Given the description of an element on the screen output the (x, y) to click on. 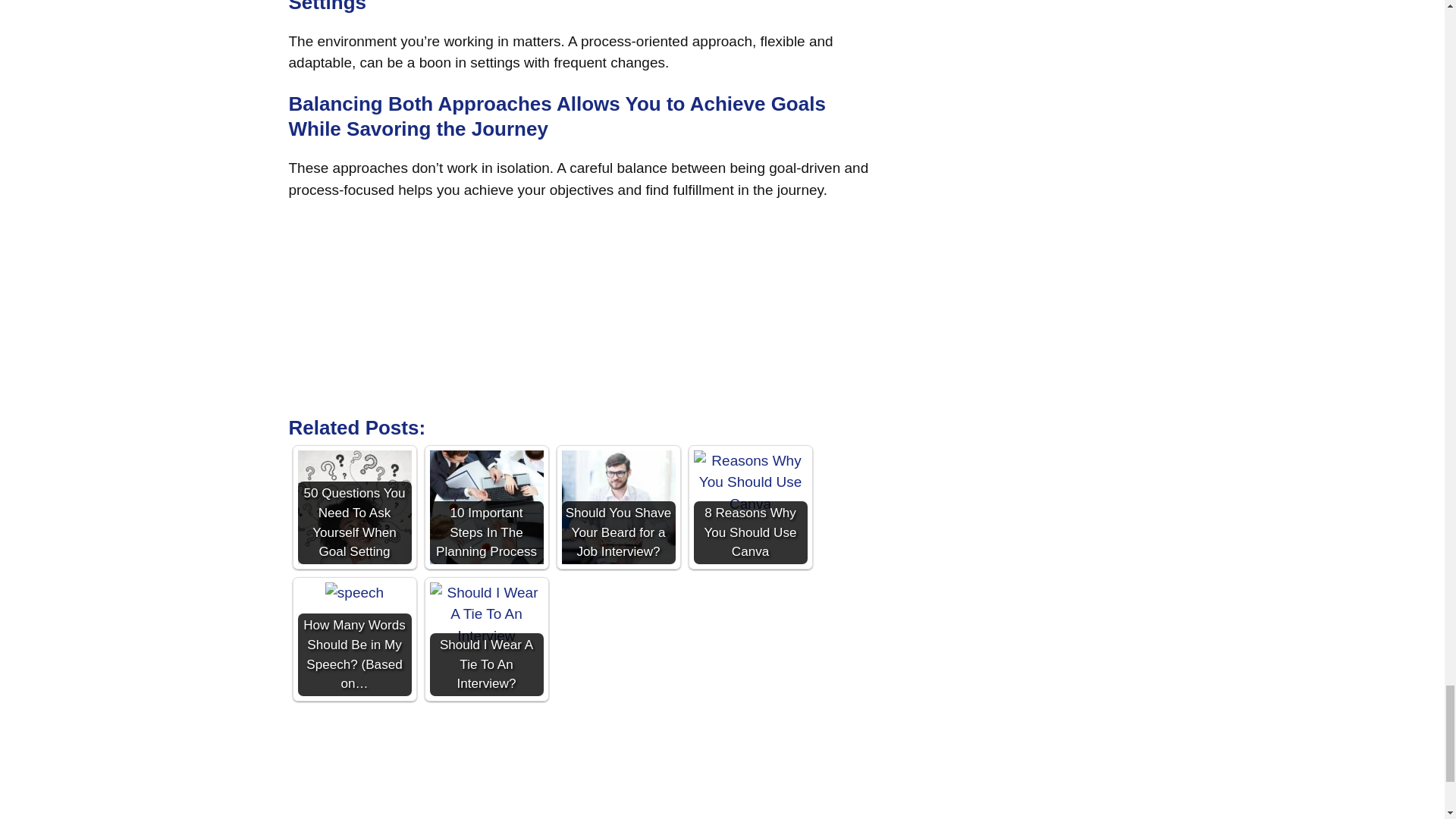
8 Reasons Why You Should Use Canva (749, 482)
10 Important Steps In The Planning Process (486, 507)
Should You Shave Your Beard for a Job Interview? (617, 507)
Should I Wear A Tie To An Interview? (486, 639)
Should I Wear A Tie To An Interview? (486, 614)
Should You Shave Your Beard for a Job Interview? (617, 507)
10 Important Steps In The Planning Process (486, 507)
8 Reasons Why You Should Use Canva (749, 507)
50 Questions You Need To Ask Yourself When Goal Setting (353, 507)
50 Questions You Need To Ask Yourself When Goal Setting (353, 507)
